Given the description of an element on the screen output the (x, y) to click on. 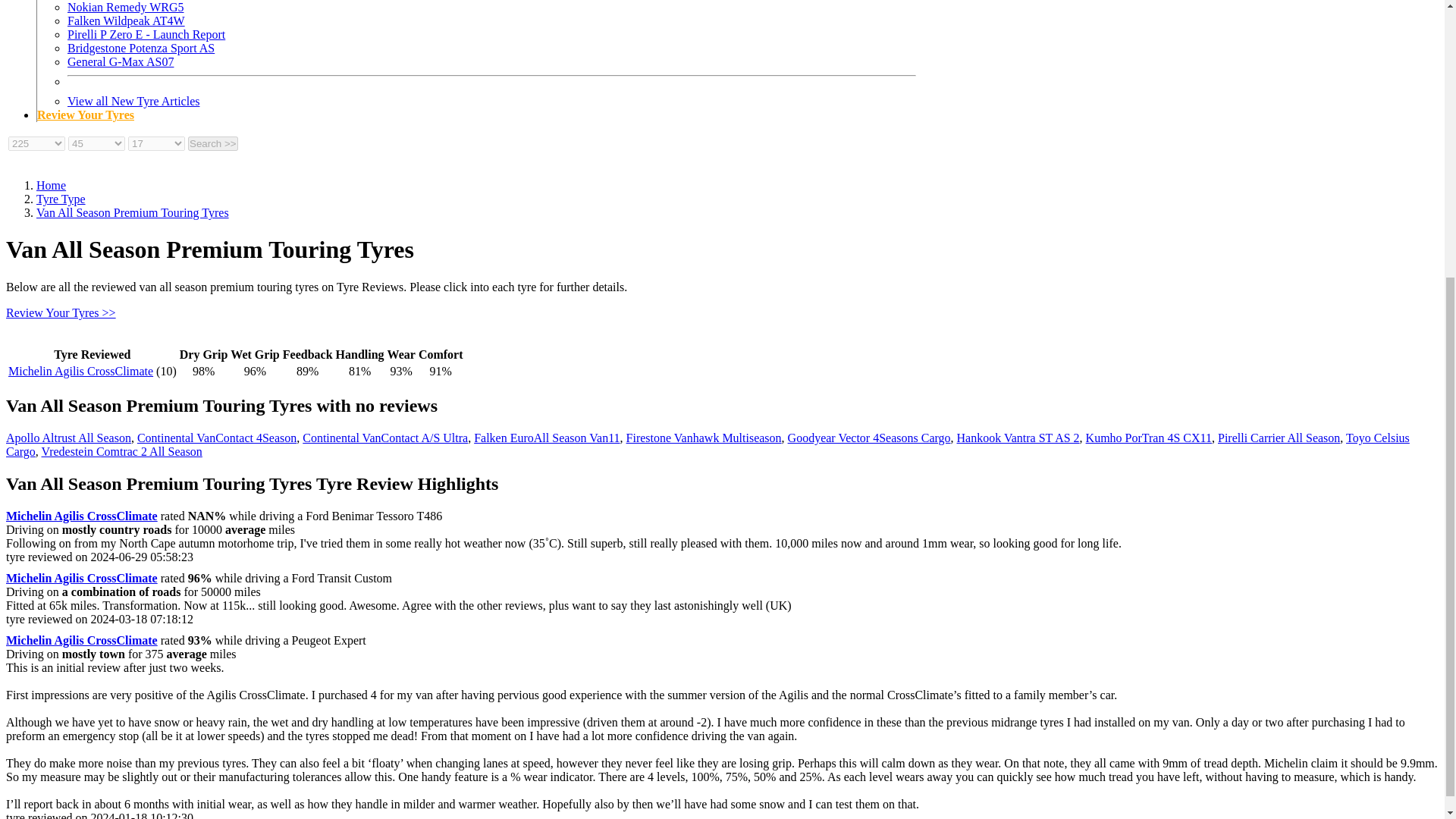
Nokian Remedy WRG5 (124, 6)
Van All Season Premium Touring Tyres (132, 212)
Hankook Vantra ST AS 2 (1018, 437)
Goodyear Vector 4Seasons Cargo (868, 437)
Firestone Vanhawk Multiseason (703, 437)
Michelin Agilis CrossClimate (80, 370)
View all New Tyre Articles (132, 101)
Bridgestone Potenza Sport AS (140, 47)
Home (50, 185)
Falken Wildpeak AT4W (125, 20)
Apollo Altrust All Season (68, 437)
Falken EuroAll Season Van11 (547, 437)
General G-Max AS07 (119, 61)
Tyre Type (60, 198)
Review Your Tyres (85, 114)
